Given the description of an element on the screen output the (x, y) to click on. 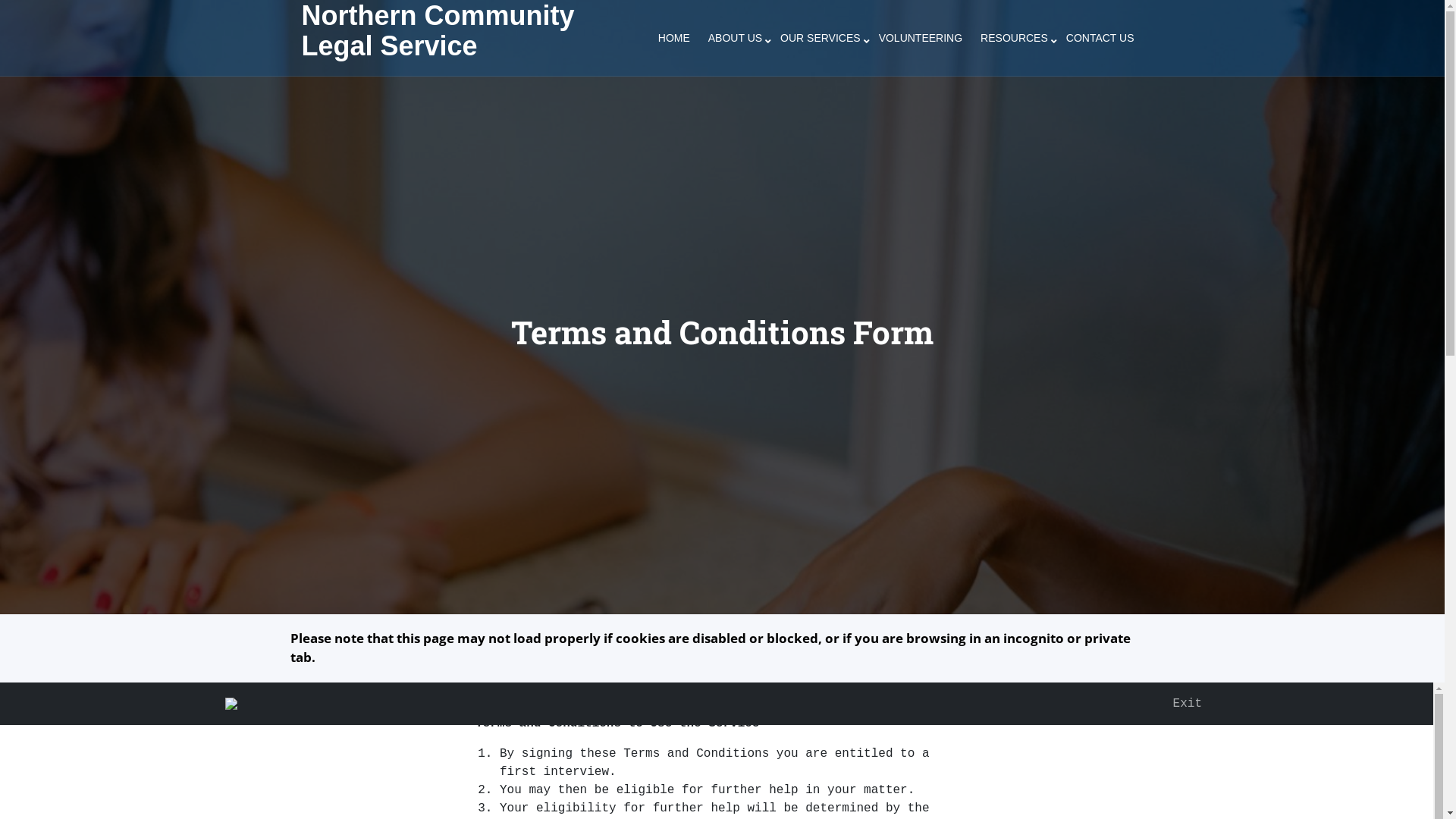
HOME Element type: text (674, 37)
RESOURCES Element type: text (1014, 37)
Northern Community Legal Service Element type: text (437, 30)
CONTACT US Element type: text (1100, 37)
ABOUT US Element type: text (735, 37)
OUR SERVICES Element type: text (820, 37)
VOLUNTEERING Element type: text (920, 37)
